Given the description of an element on the screen output the (x, y) to click on. 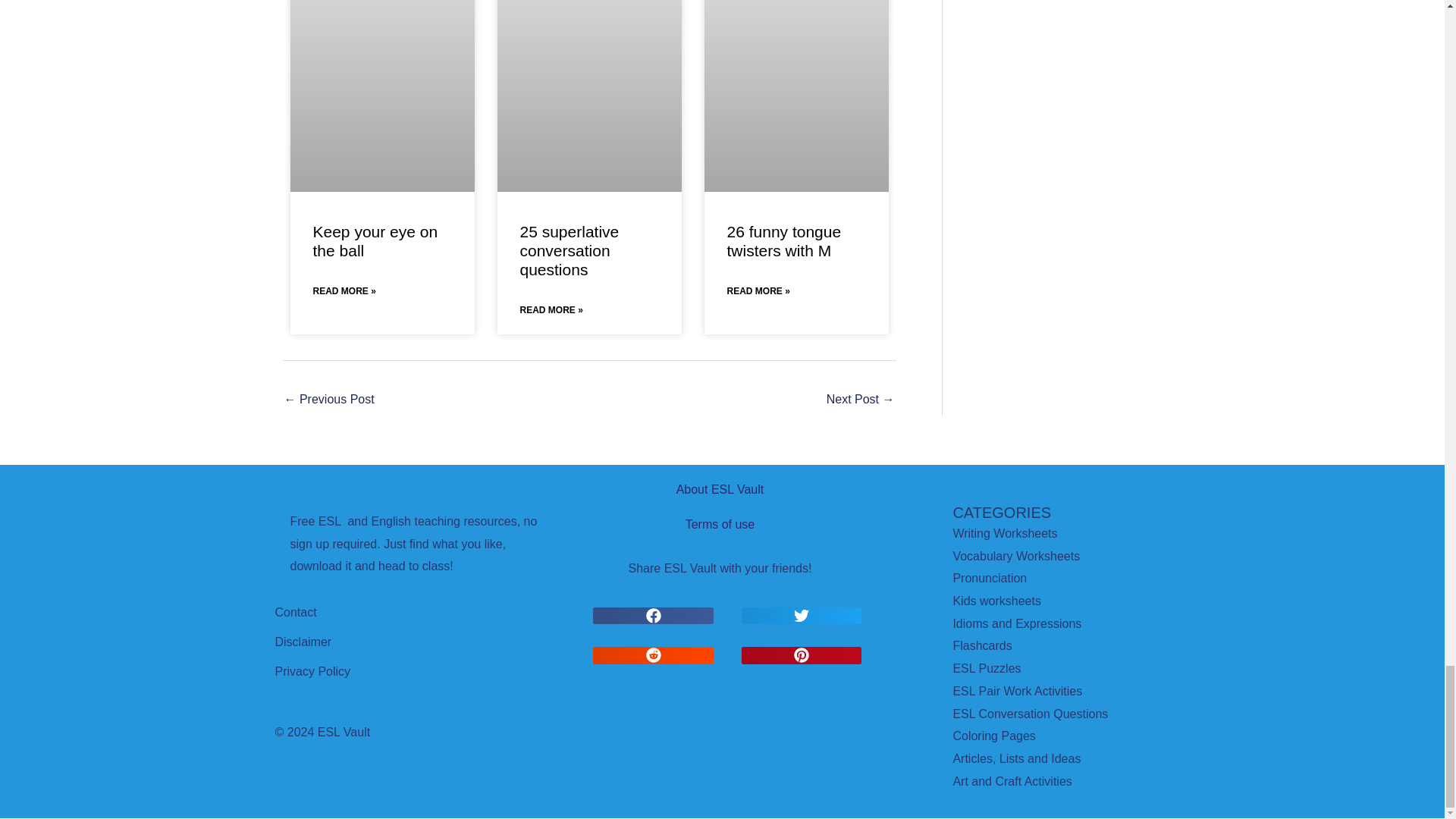
25 superlative conversation questions (569, 250)
Contact (295, 612)
Terms of use (719, 524)
26 funny tongue twisters with M (783, 240)
About ESL Vault (719, 489)
Airport vocabulary with pictures worksheets (861, 400)
Keep your eye on the ball (375, 240)
Disclaimer (303, 641)
Privacy Policy (312, 671)
25 tiger conversation questions (328, 400)
